Given the description of an element on the screen output the (x, y) to click on. 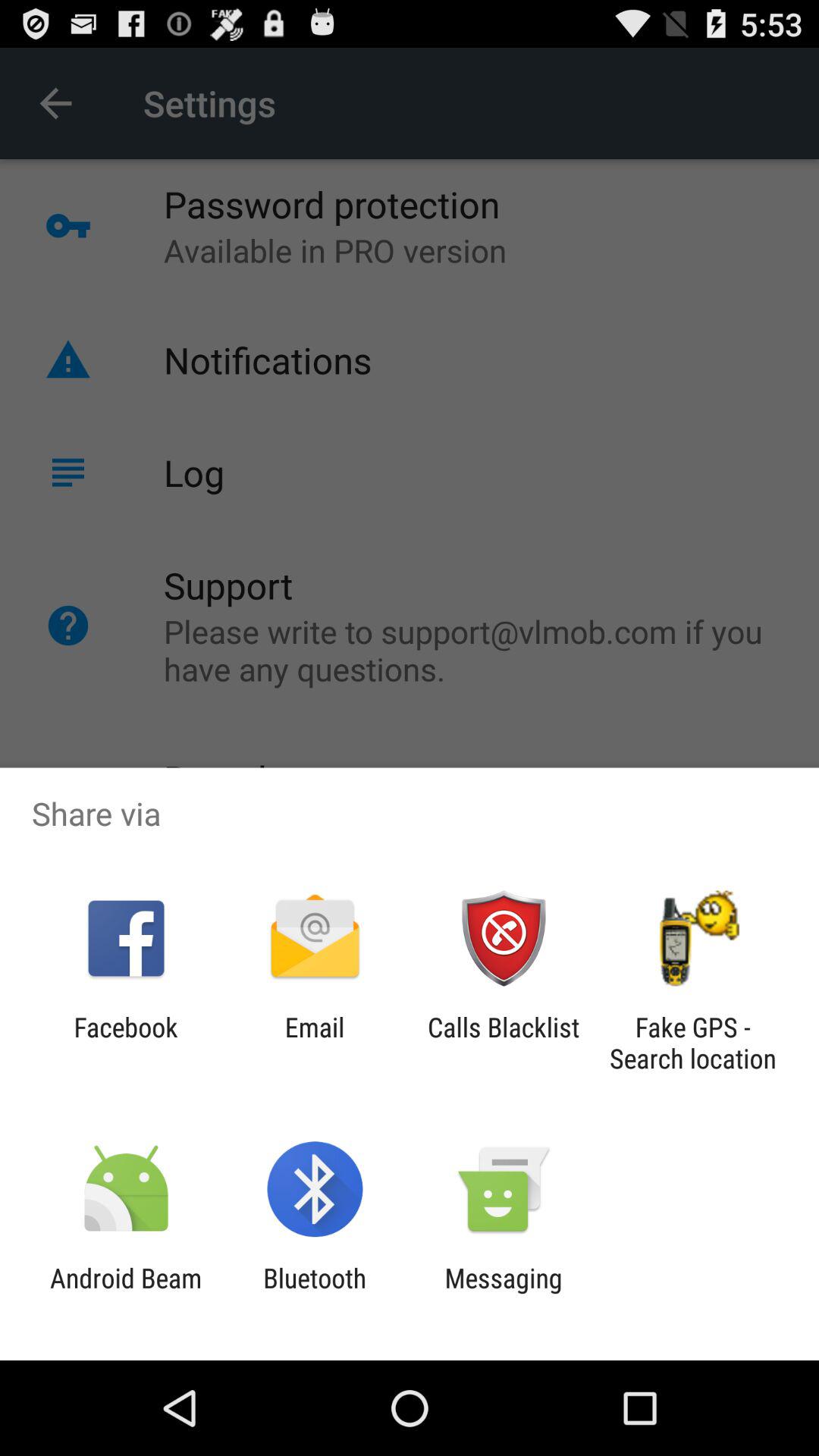
click app to the right of the bluetooth icon (503, 1293)
